Given the description of an element on the screen output the (x, y) to click on. 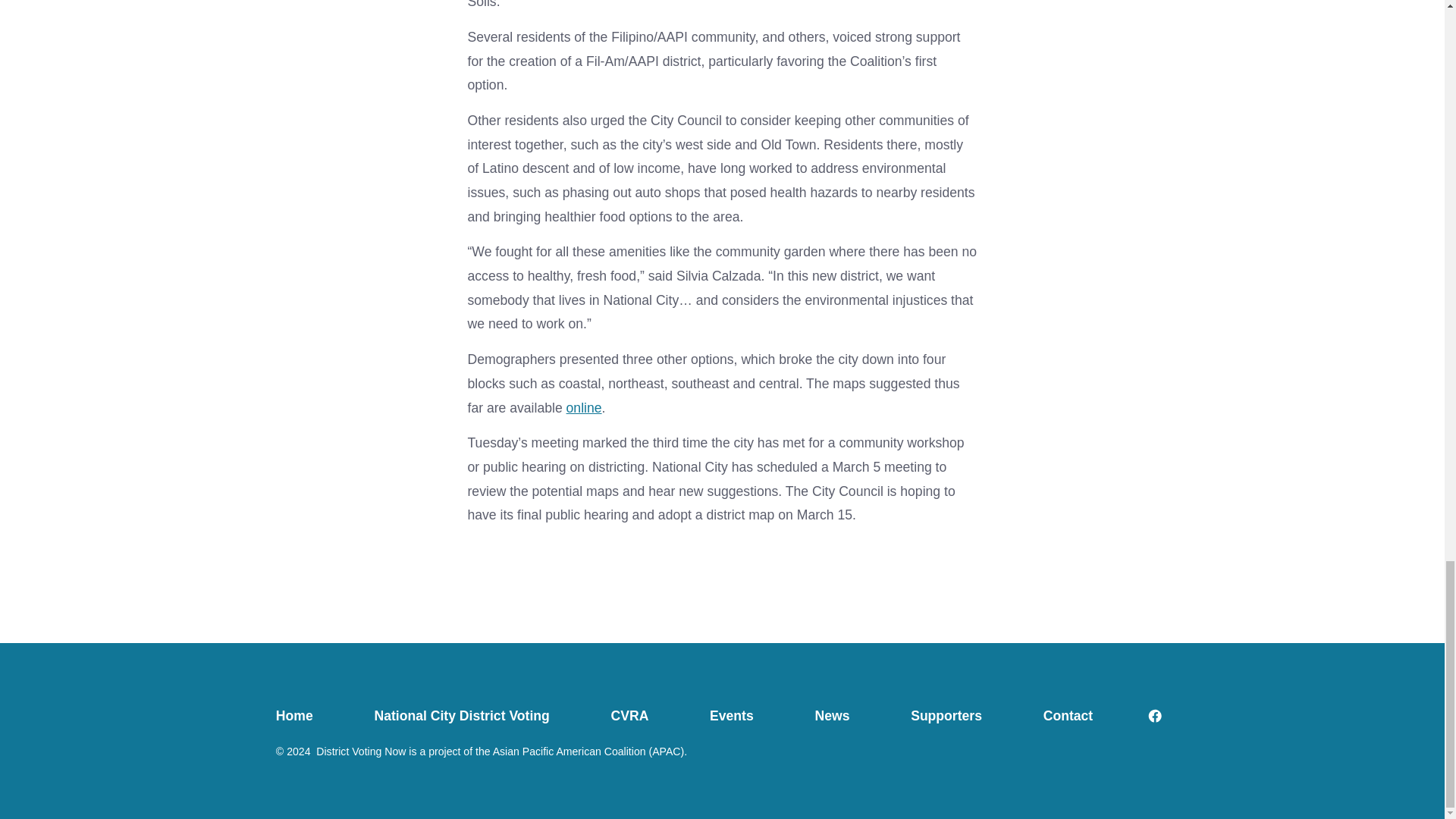
Events (732, 716)
CVRA (629, 716)
online (584, 407)
National City District Voting (461, 716)
Contact (1067, 716)
News (832, 716)
Home (309, 716)
Supporters (946, 716)
Open Facebook in a new tab (1155, 715)
